Given the description of an element on the screen output the (x, y) to click on. 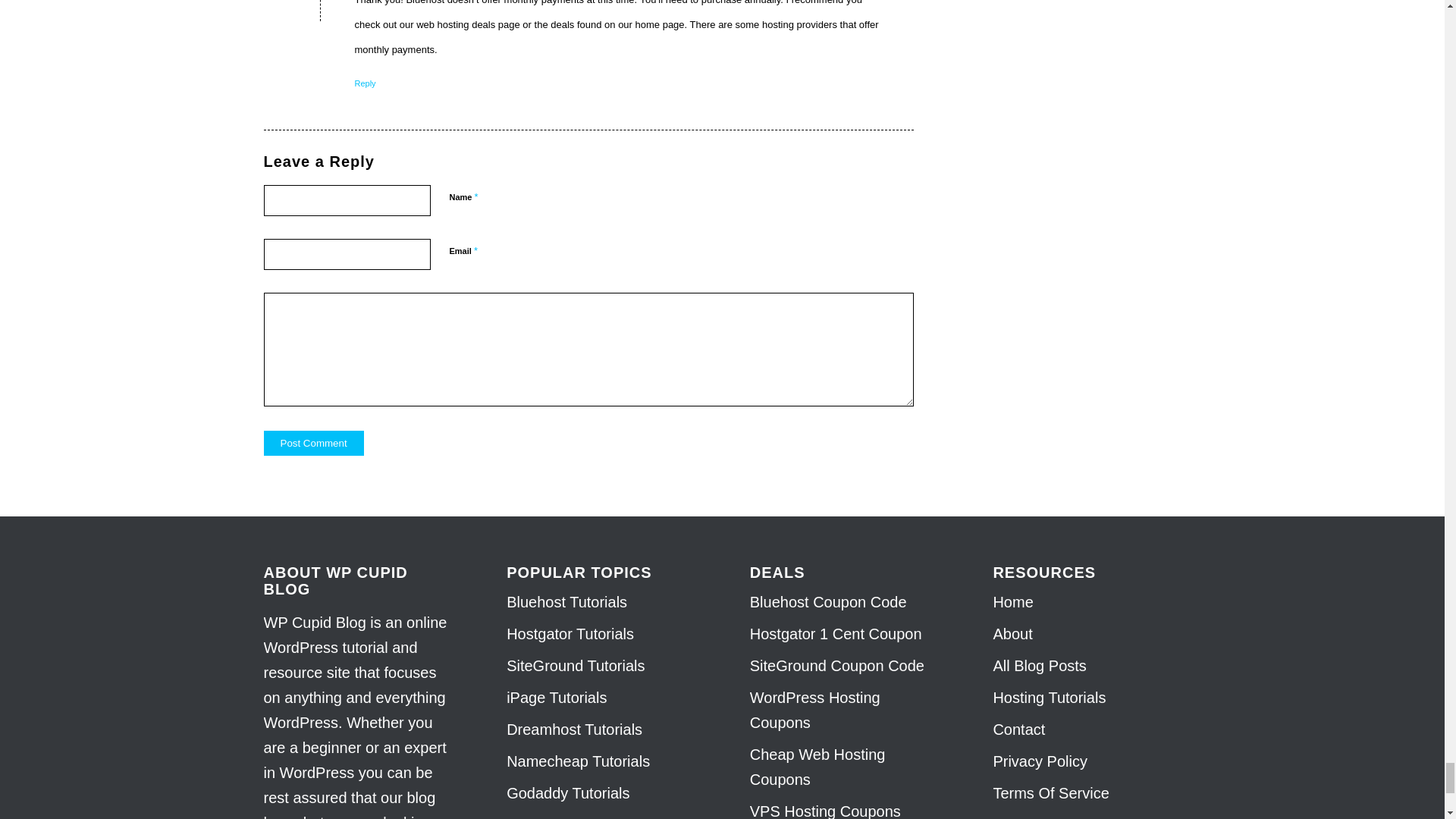
Post Comment (313, 442)
